Given the description of an element on the screen output the (x, y) to click on. 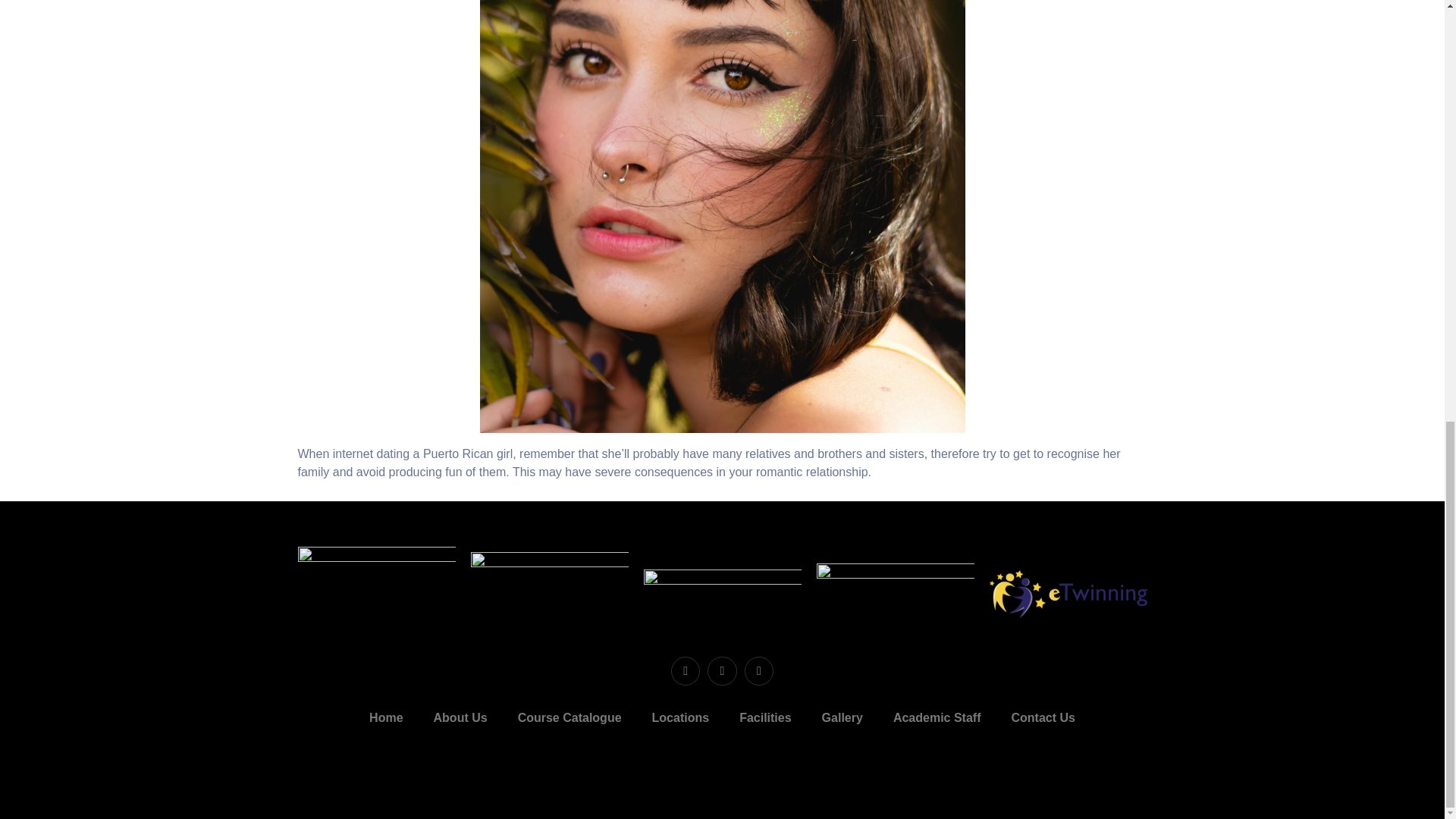
Course Catalogue (569, 718)
Home (385, 718)
Academic Staff (936, 718)
Gallery (841, 718)
Contact Us (1042, 718)
Facilities (764, 718)
Locations (681, 718)
About Us (460, 718)
